Given the description of an element on the screen output the (x, y) to click on. 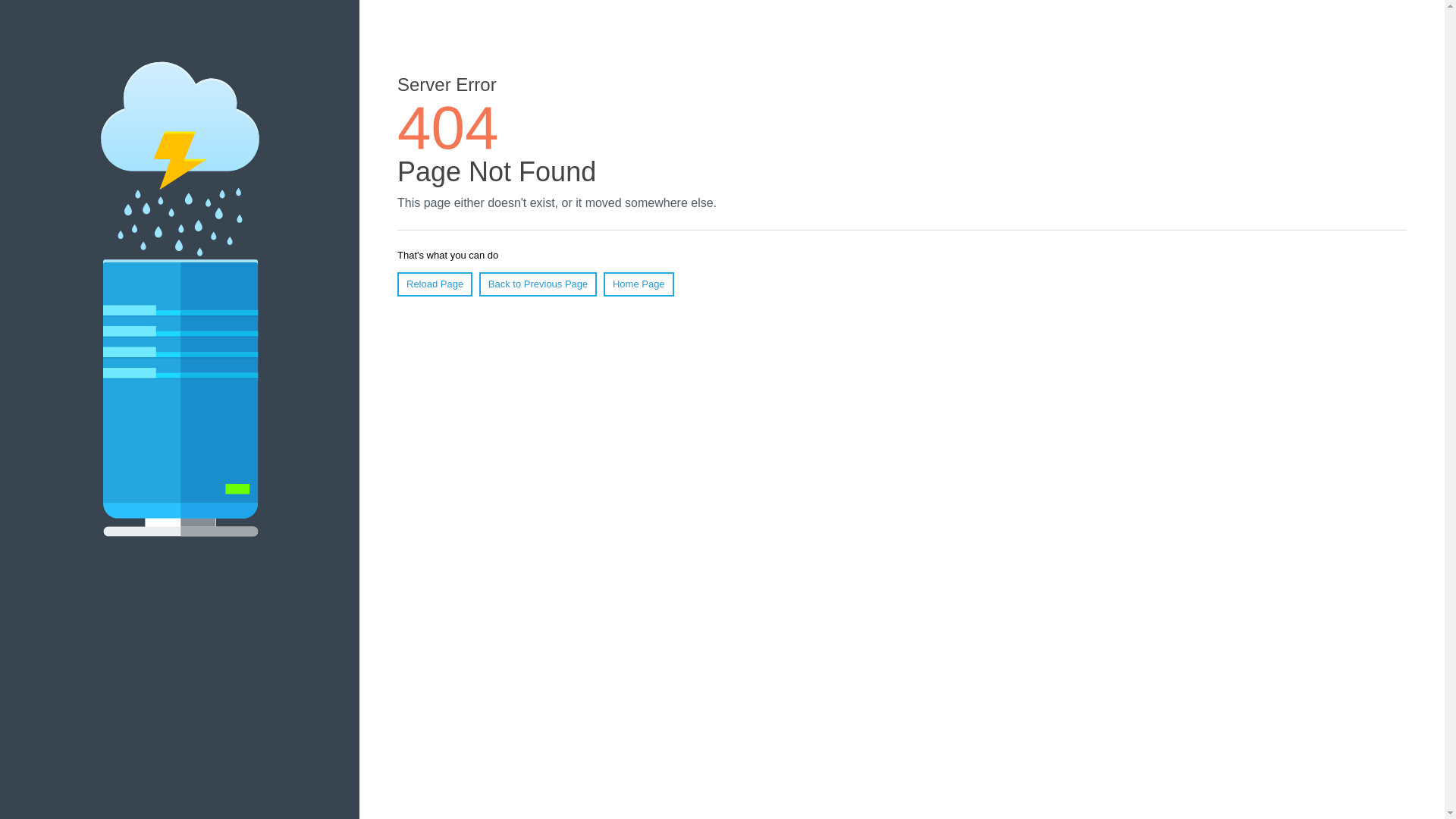
Reload Page Element type: text (434, 284)
Back to Previous Page Element type: text (538, 284)
Home Page Element type: text (638, 284)
